Given the description of an element on the screen output the (x, y) to click on. 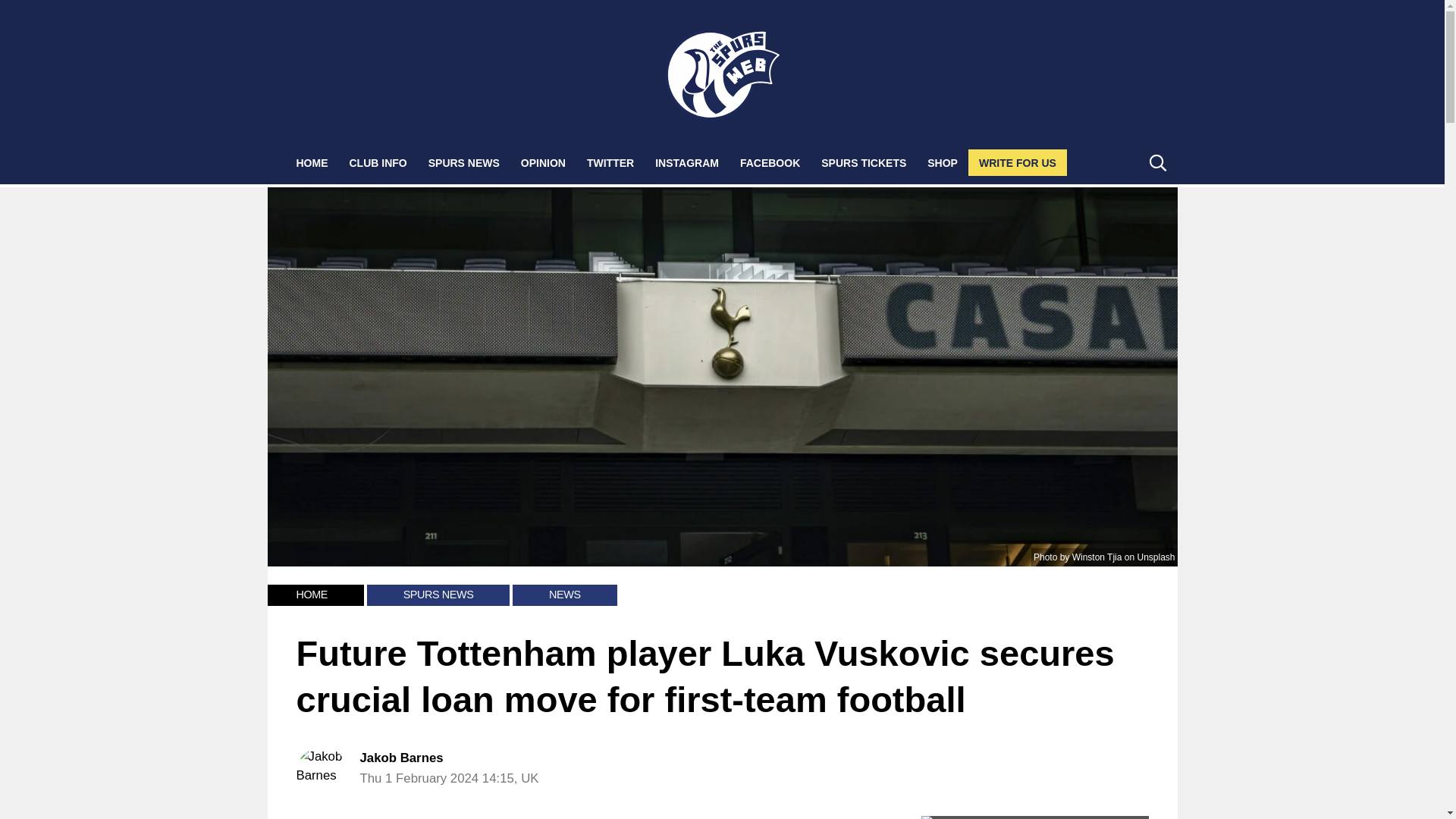
TWITTER (610, 162)
SPURS NEWS (464, 162)
CLUB INFO (376, 162)
Click here for more Spurs news from NewsNow (1034, 817)
WRITE FOR US (1017, 162)
HOME (311, 594)
SHOP (942, 162)
SPURS TICKETS (863, 162)
FACEBOOK (769, 162)
SPURS NEWS (438, 594)
